Given the description of an element on the screen output the (x, y) to click on. 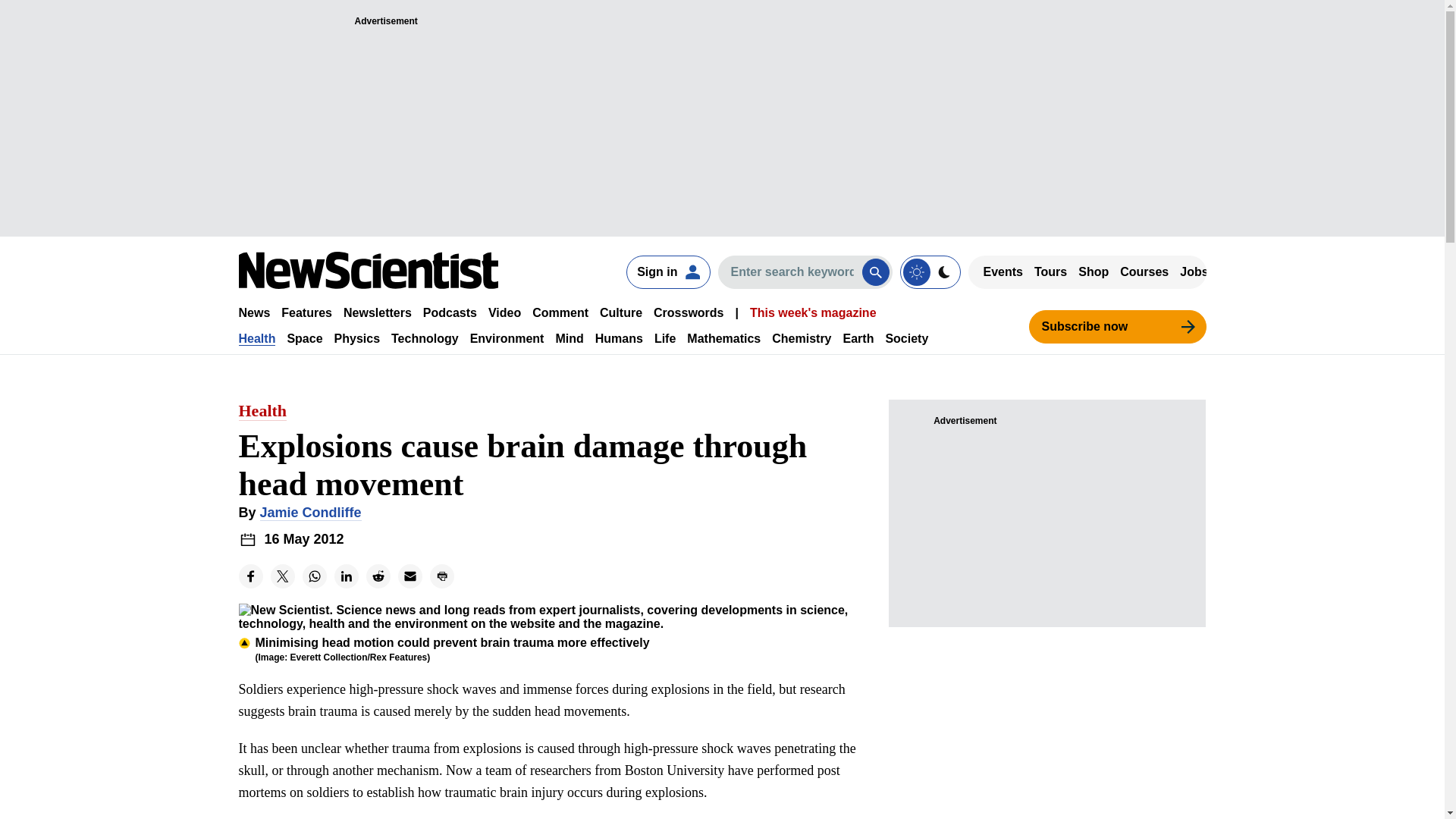
Sign in (668, 272)
on (929, 272)
Calendar icon (247, 538)
Sign In page link (668, 272)
Tours (1050, 272)
Newsletters (377, 313)
Physics (357, 338)
Health (256, 338)
Life (664, 338)
Podcasts (450, 313)
